Given the description of an element on the screen output the (x, y) to click on. 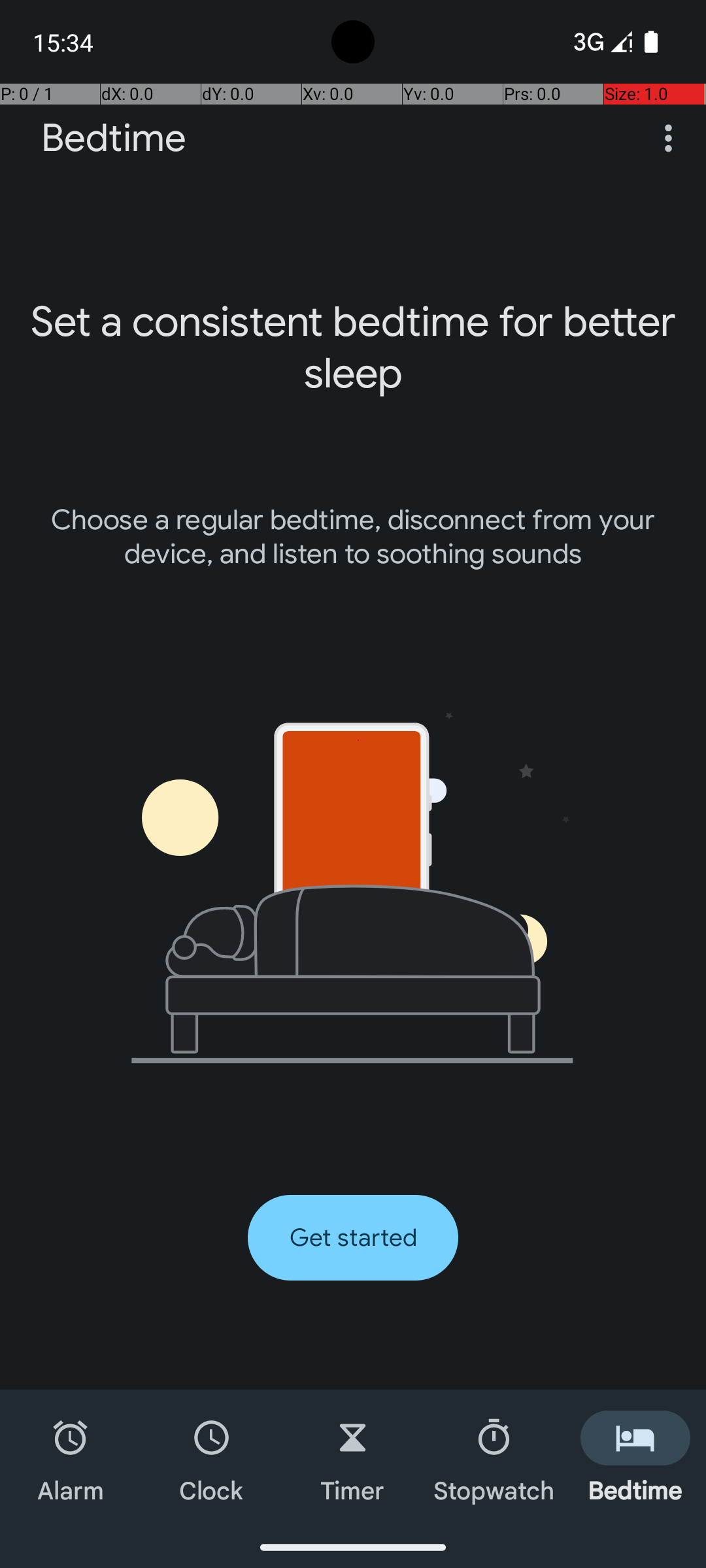
Set a consistent bedtime for better sleep Element type: android.widget.TextView (352, 347)
Choose a regular bedtime, disconnect from your device, and listen to soothing sounds Element type: android.widget.TextView (352, 536)
